Given the description of an element on the screen output the (x, y) to click on. 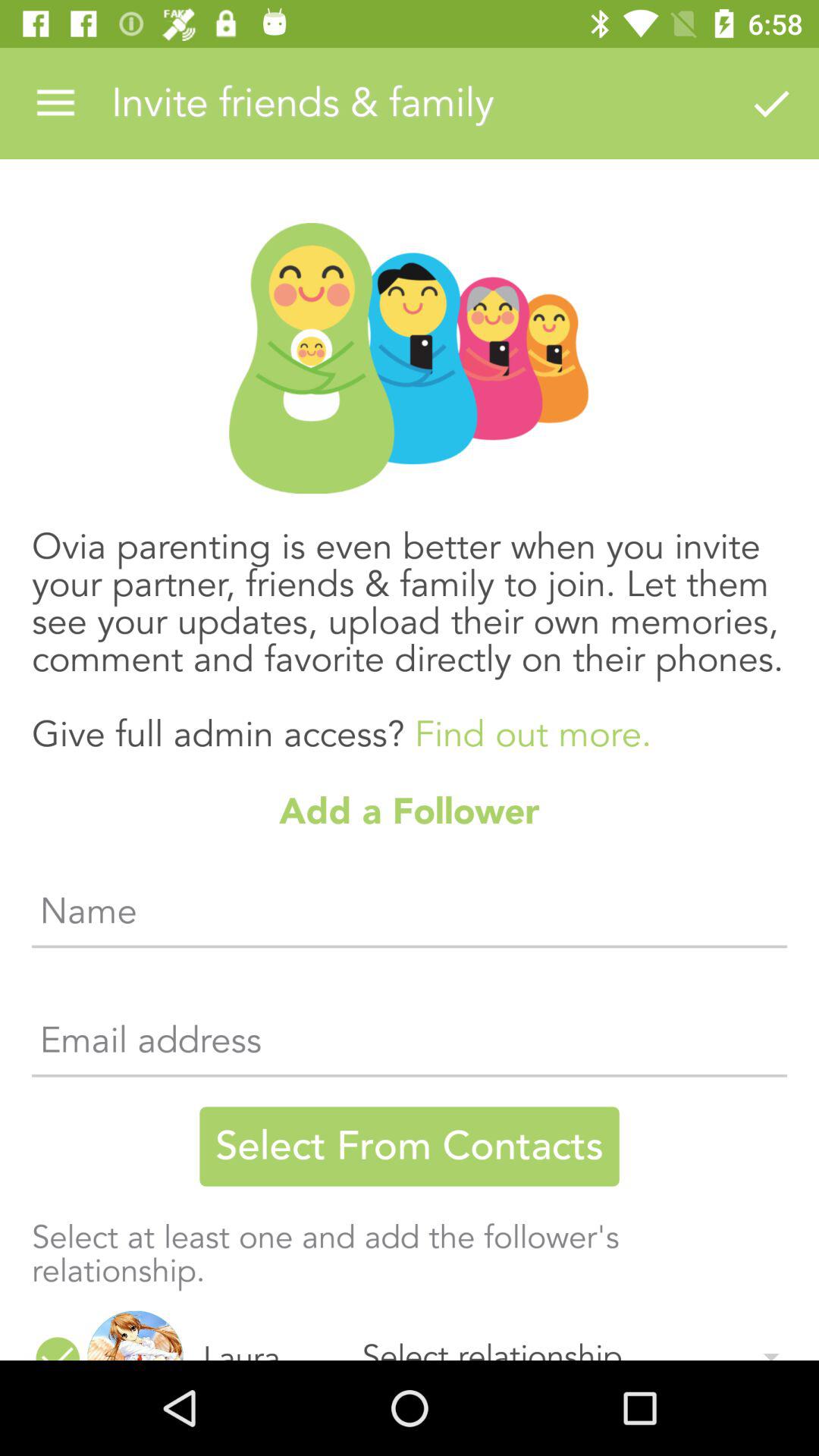
click icon next to the invite friends & family icon (771, 103)
